Given the description of an element on the screen output the (x, y) to click on. 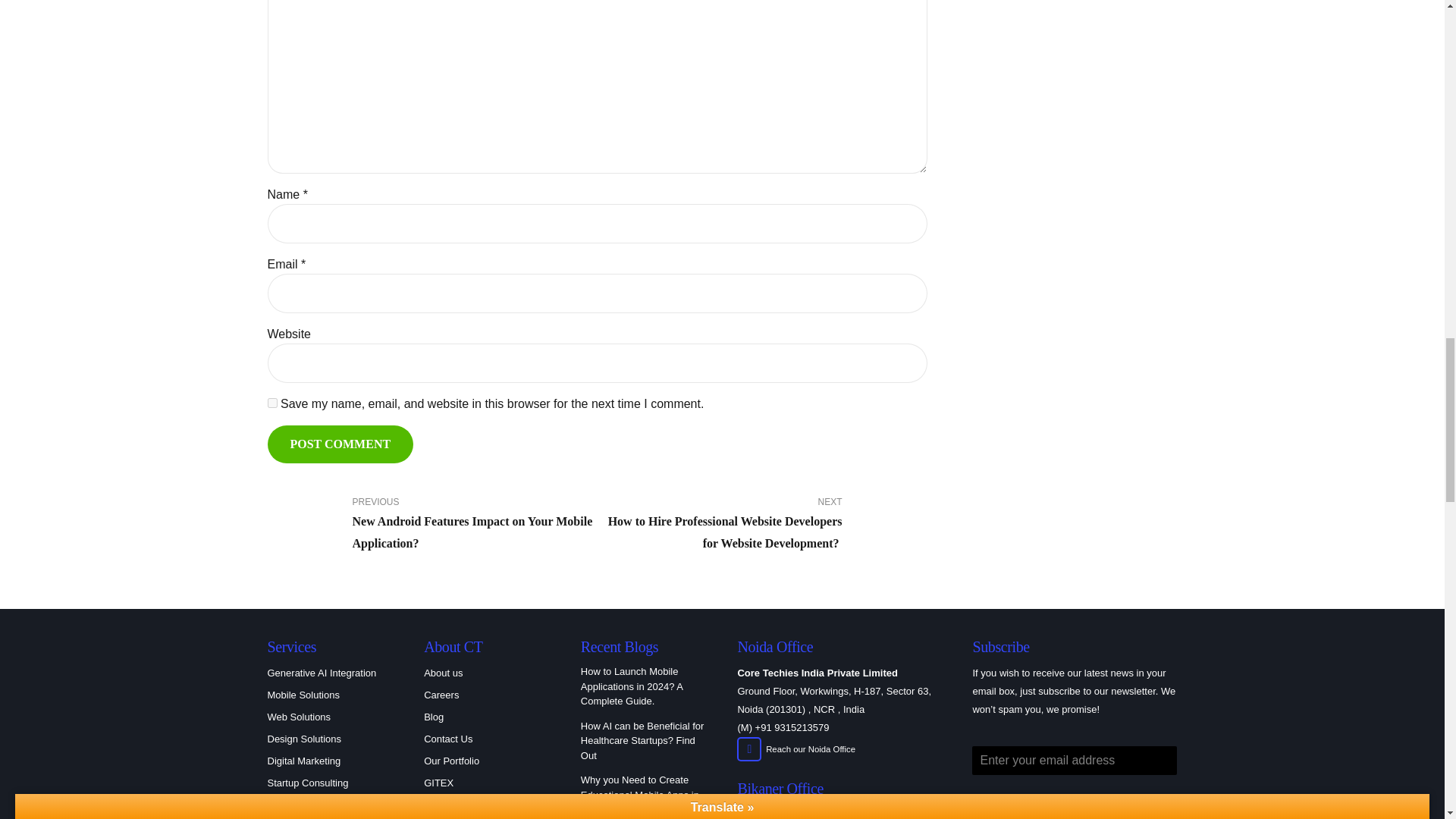
POST COMMENT (339, 443)
yes (271, 402)
